Given the description of an element on the screen output the (x, y) to click on. 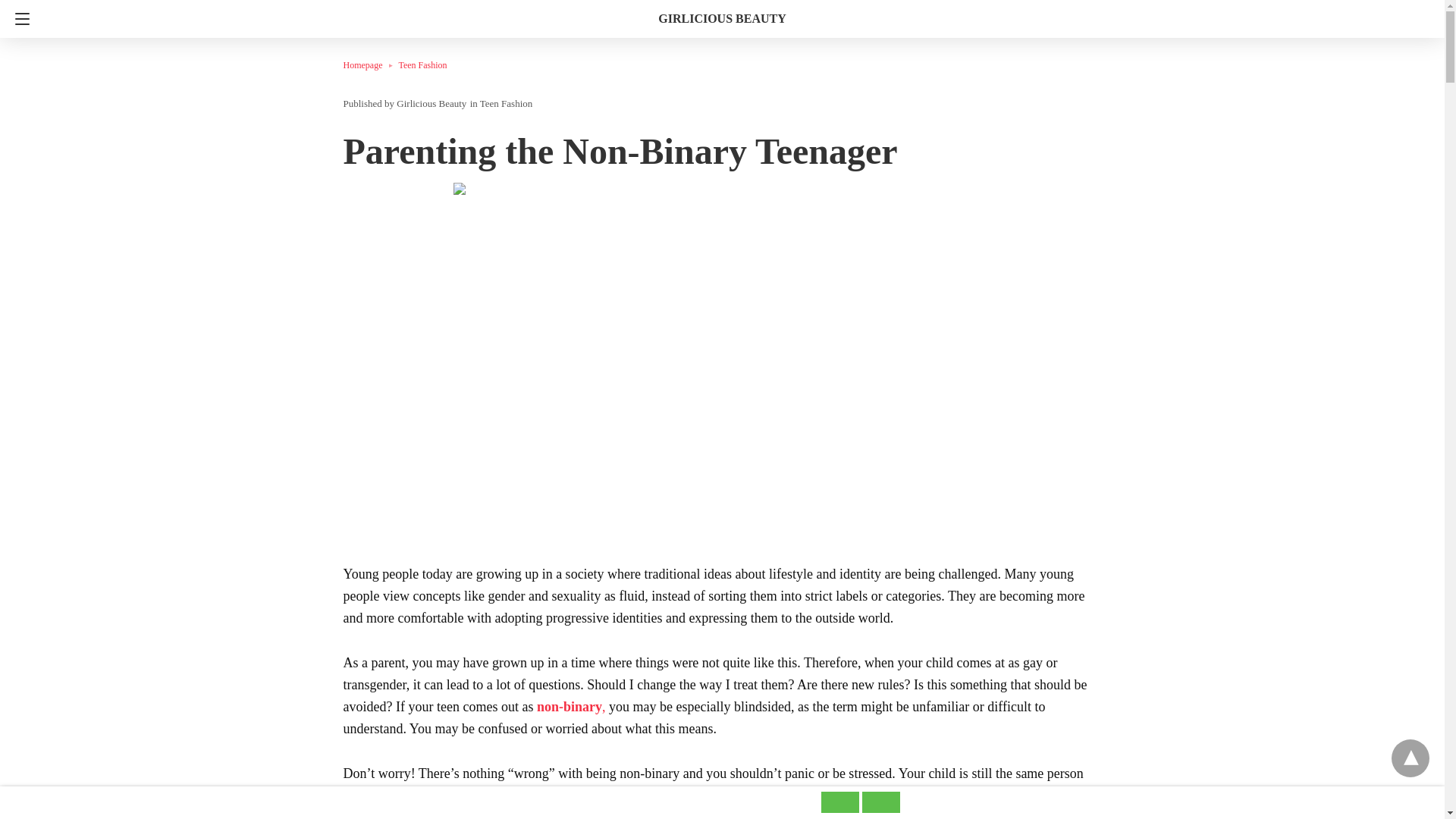
non-binary, (571, 706)
GIRLICIOUS BEAUTY (722, 18)
Teen Fashion (506, 102)
Homepage (369, 64)
Teen Fashion (421, 64)
Teen Fashion (421, 64)
Homepage (369, 64)
